Given the description of an element on the screen output the (x, y) to click on. 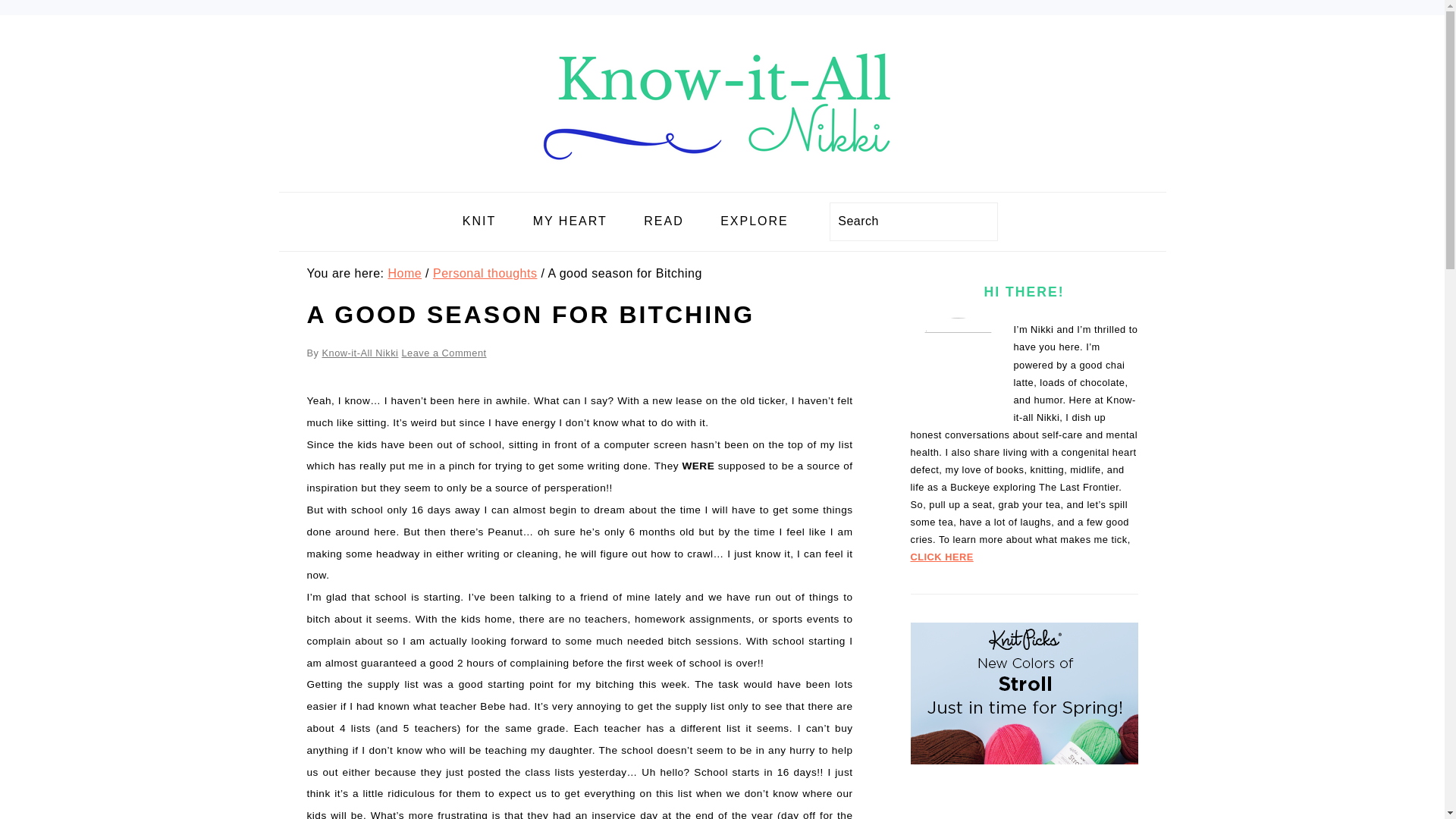
MY HEART (569, 221)
Know-it-all Nikki (721, 179)
Know-it-All Nikki (359, 352)
Personal thoughts (484, 273)
CLICK HERE (941, 556)
Leave a Comment (443, 352)
Home (404, 273)
EXPLORE (754, 221)
